Given the description of an element on the screen output the (x, y) to click on. 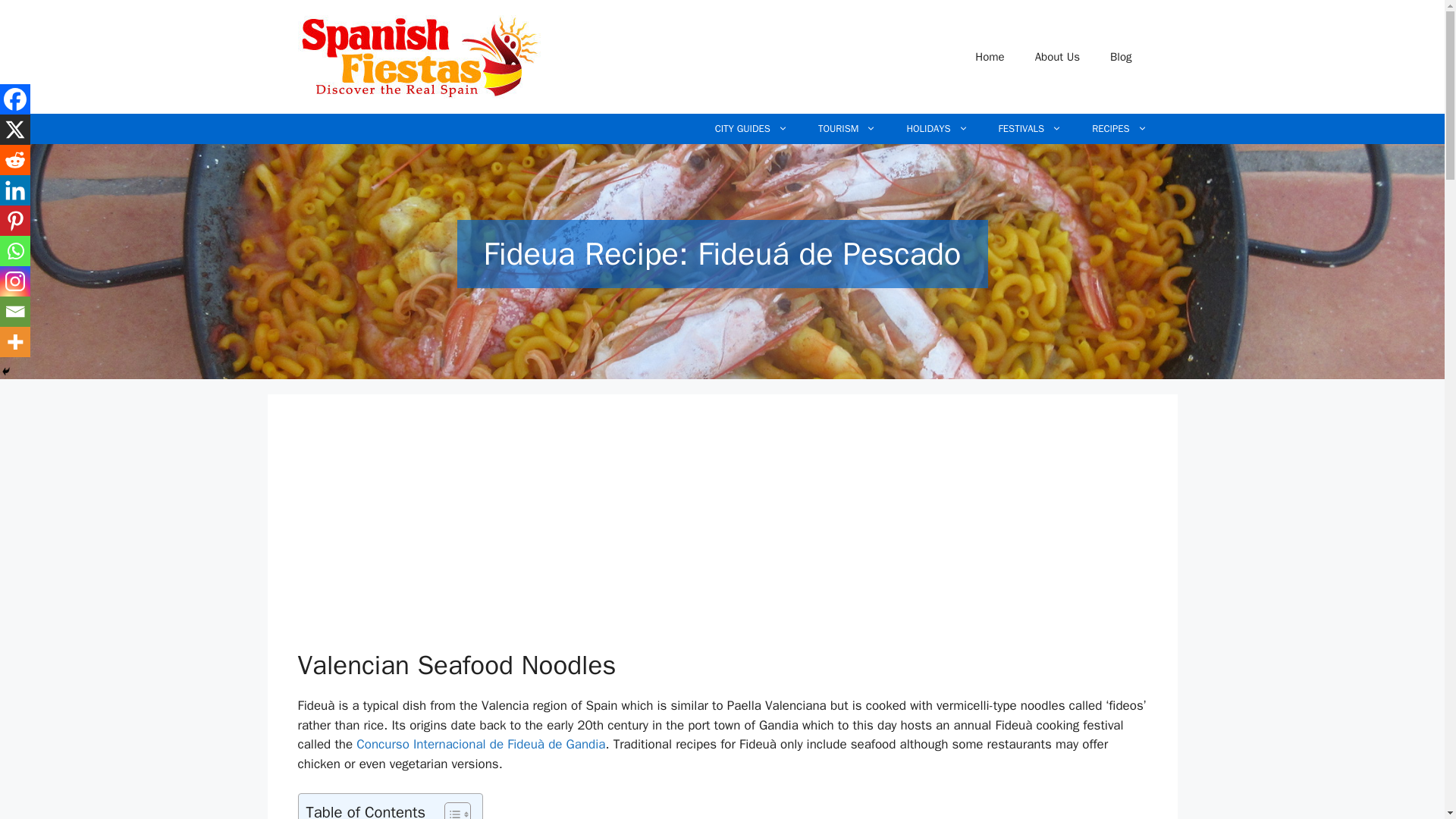
FESTIVALS (1030, 128)
Advertisement (607, 536)
Home (989, 56)
HOLIDAYS (936, 128)
Blog (1120, 56)
CITY GUIDES (751, 128)
About Us (1057, 56)
TOURISM (847, 128)
RECIPES (1119, 128)
